Given the description of an element on the screen output the (x, y) to click on. 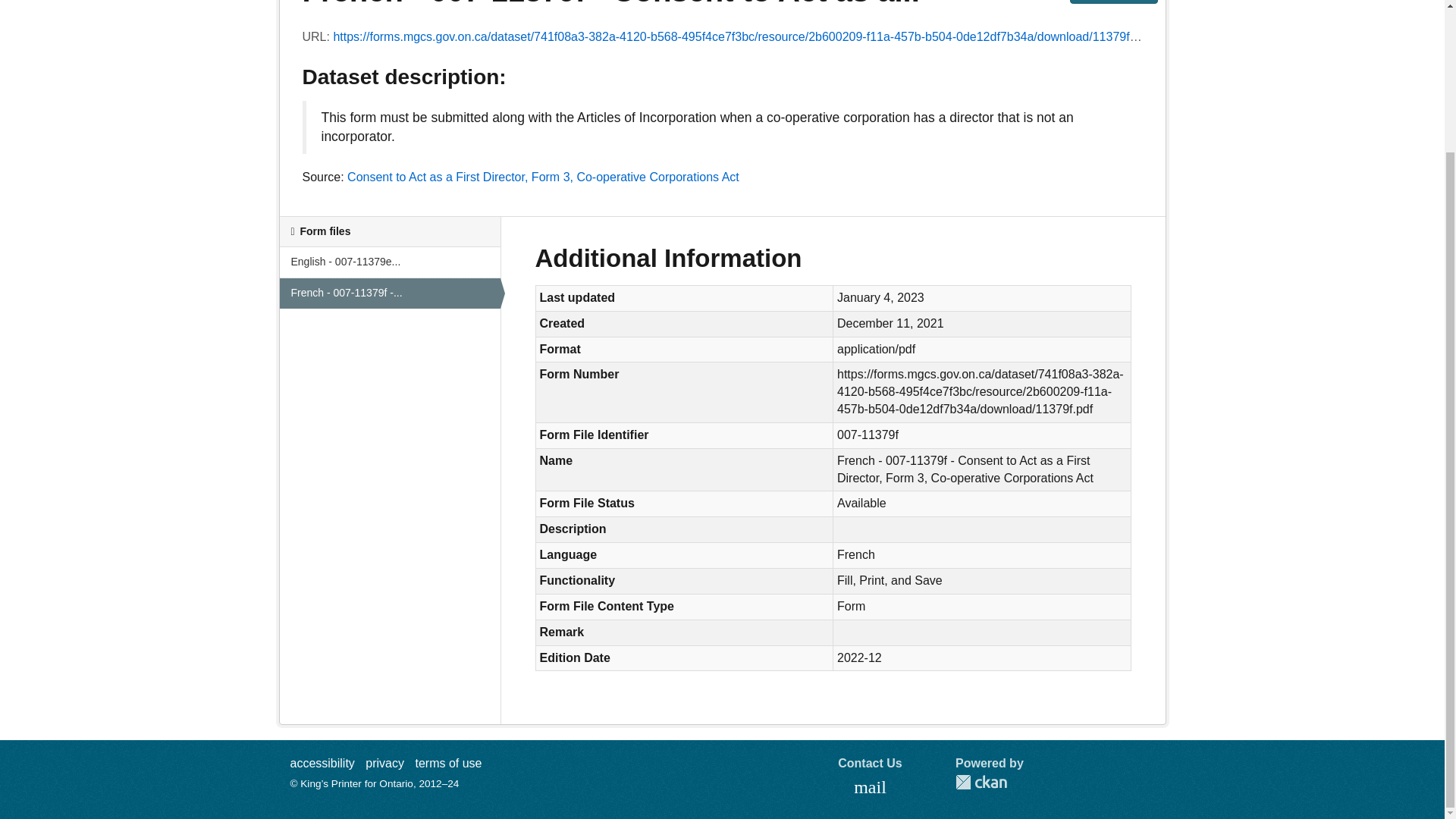
English - 007-11379e... (389, 262)
accessibility (321, 762)
French - 007-11379f -... (389, 293)
Download (1113, 2)
mail (870, 788)
privacy (384, 762)
terms of use (447, 762)
